Given the description of an element on the screen output the (x, y) to click on. 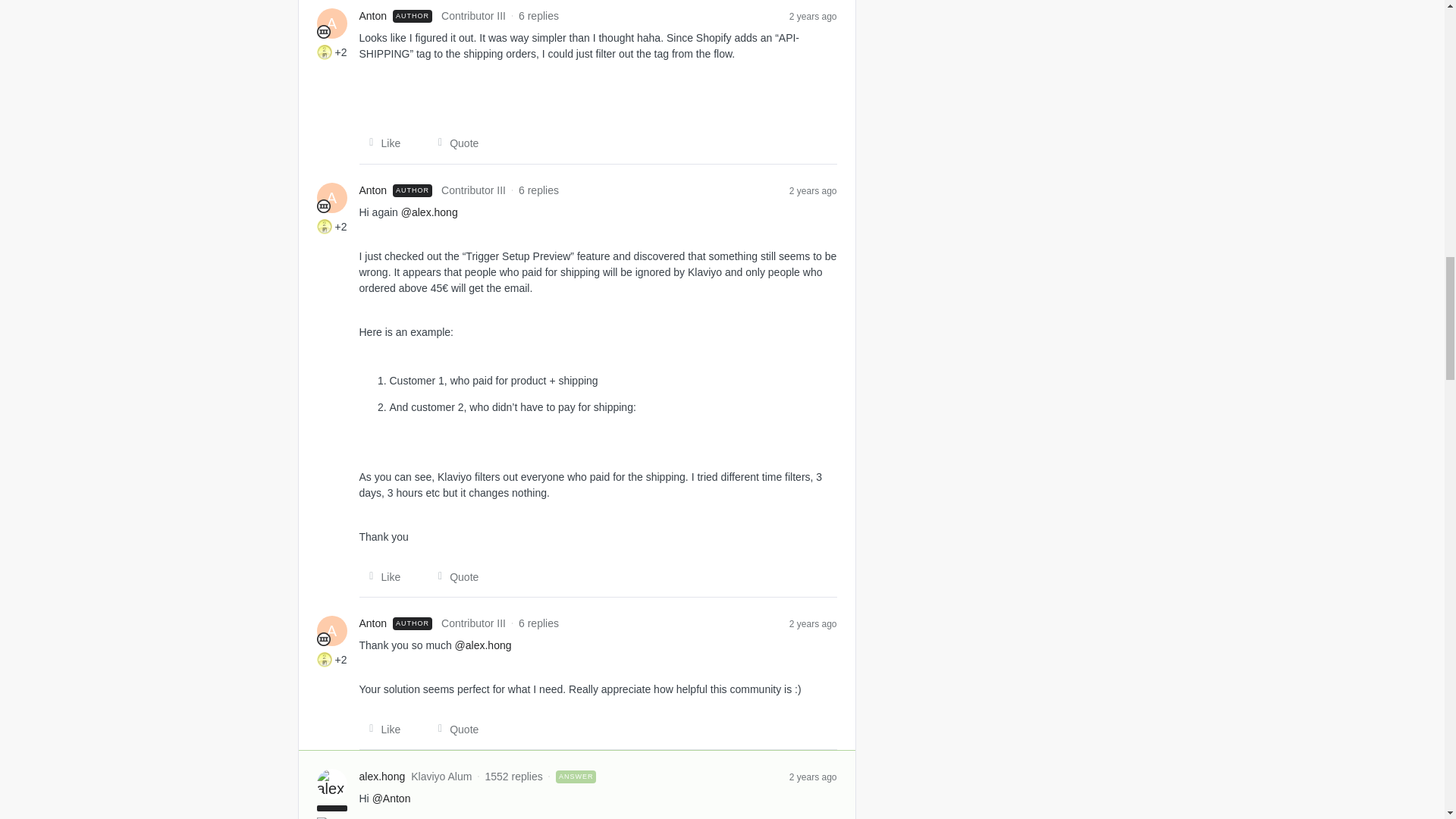
2 years ago (813, 623)
Quote (453, 575)
2 years ago (813, 189)
Anniversary - 2 years (324, 52)
Like (380, 142)
Anton (373, 189)
2 years ago (813, 15)
Anton (373, 16)
Contributor III (323, 639)
A (332, 23)
Anniversary - 2 years (324, 225)
Quote (453, 729)
Quote (453, 142)
Anton (373, 16)
